Given the description of an element on the screen output the (x, y) to click on. 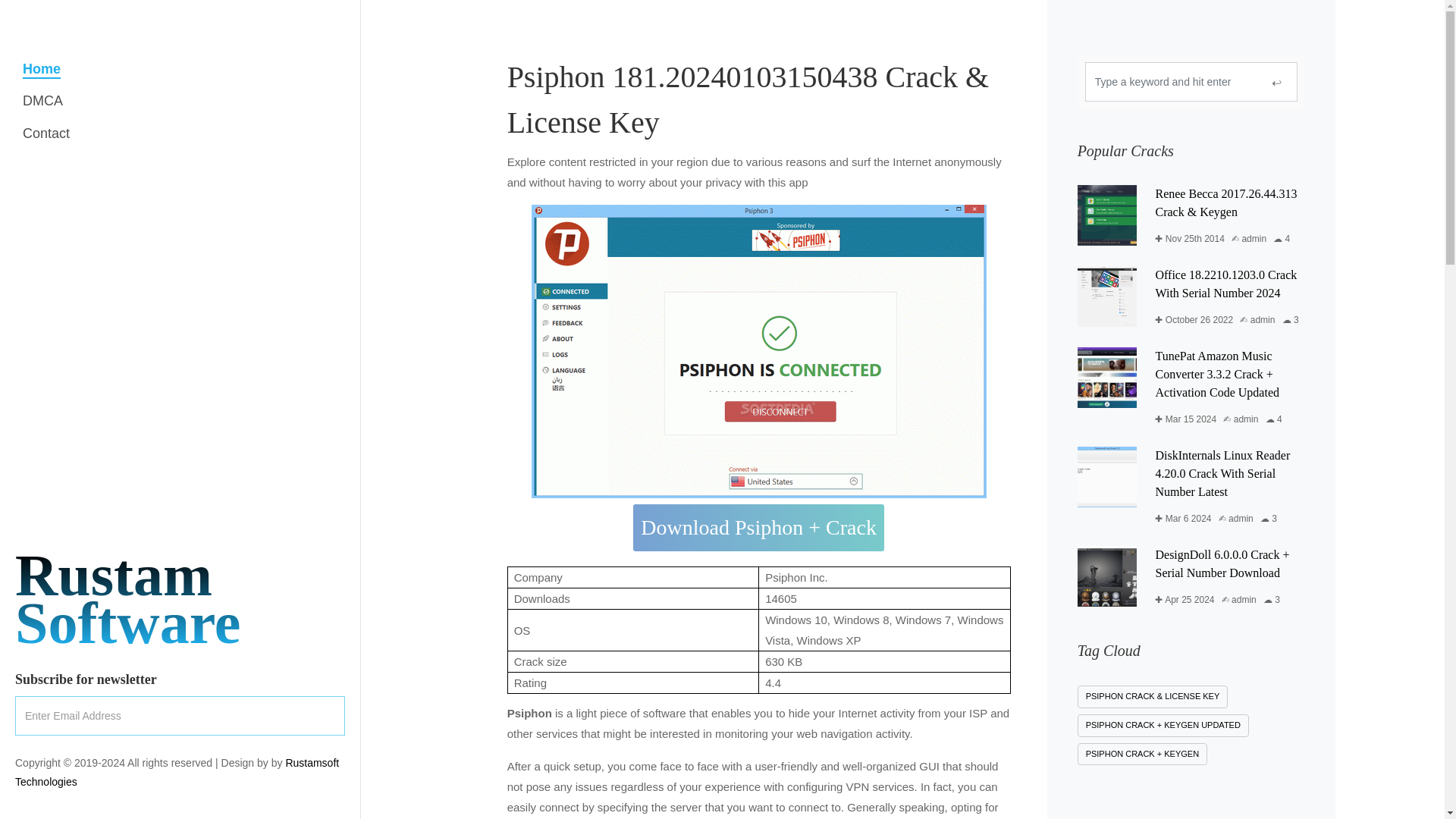
Contact (46, 132)
Home (42, 69)
Rustamsoft Technologies (127, 599)
DMCA (176, 771)
Office 18.2210.1203.0 Crack With Serial Number 2024 (42, 100)
